Given the description of an element on the screen output the (x, y) to click on. 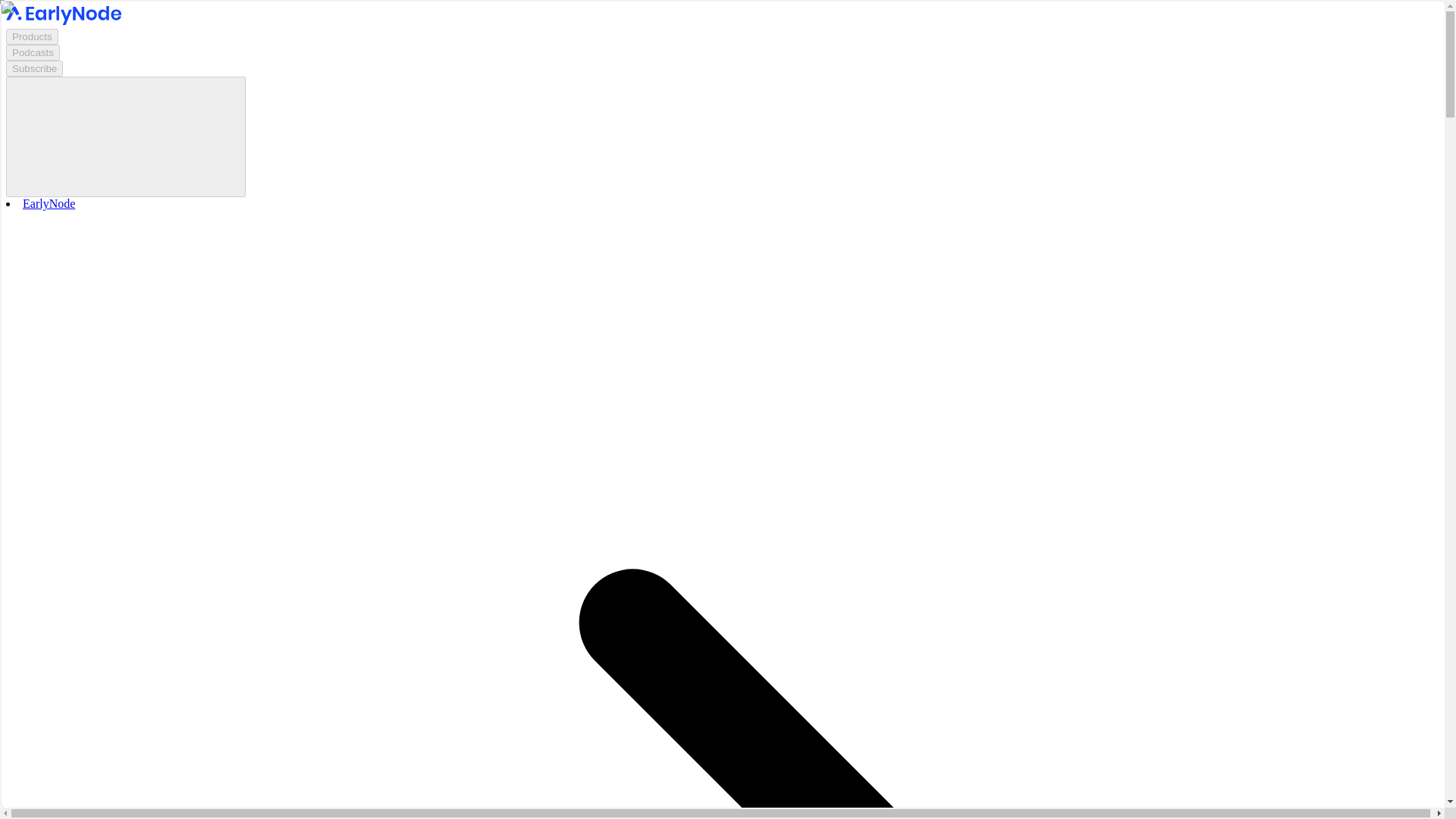
Podcasts (32, 52)
EarlyNode (49, 203)
Subscribe (33, 67)
Products (31, 36)
Subscribe (33, 68)
